Given the description of an element on the screen output the (x, y) to click on. 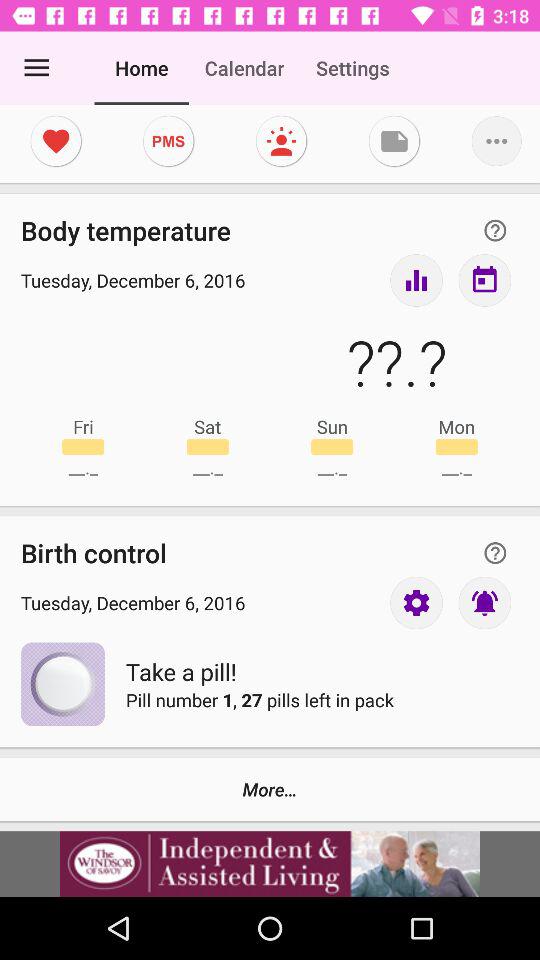
premenstrual syndrome (168, 141)
